Given the description of an element on the screen output the (x, y) to click on. 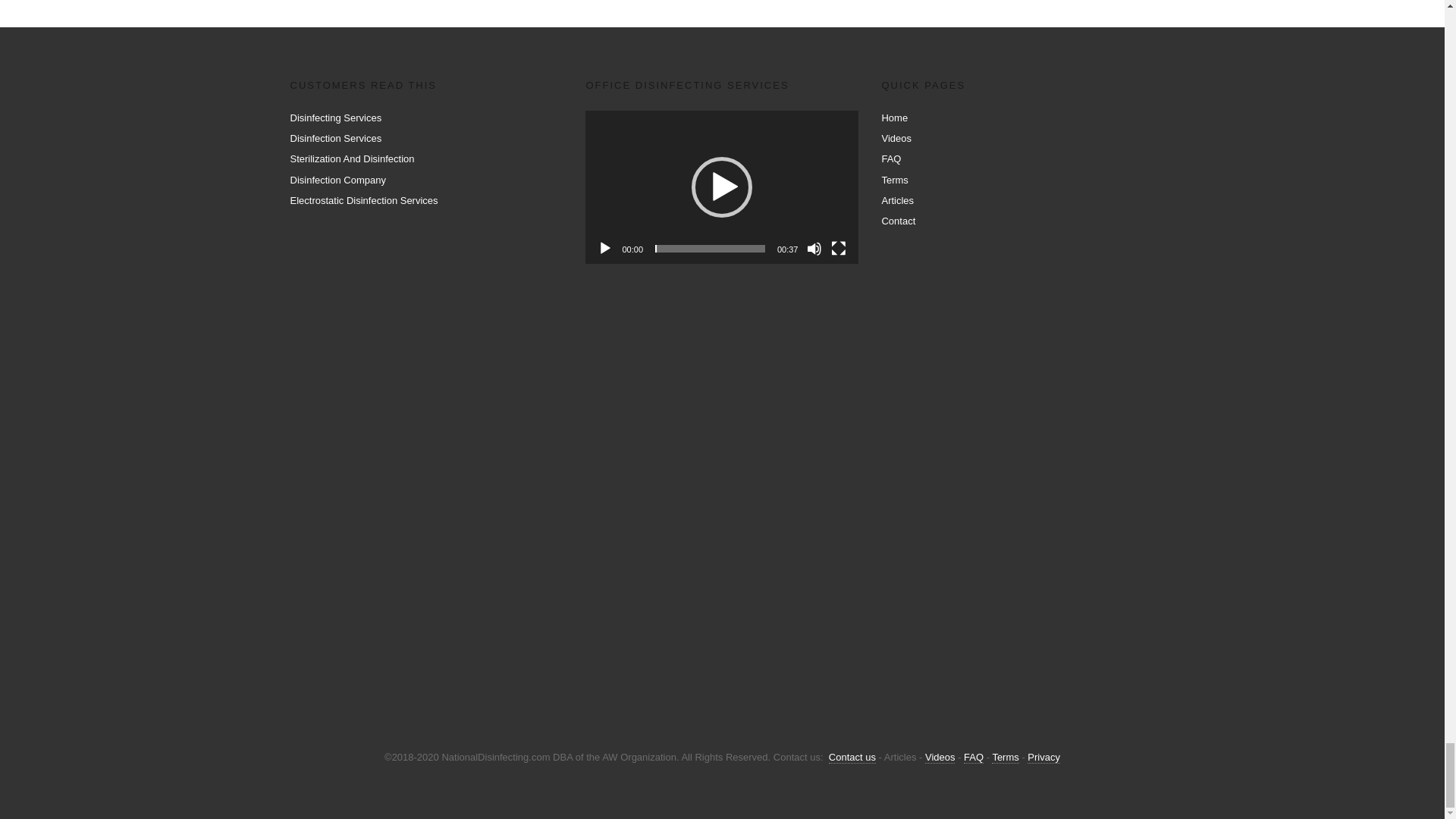
Disinfecting Services (335, 117)
Play (604, 248)
Mute (814, 248)
Fullscreen (838, 248)
Electrostatic Disinfection Services (363, 200)
Disinfection Company (337, 179)
Disinfection Services (335, 138)
Sterilization And Disinfection (351, 158)
